Given the description of an element on the screen output the (x, y) to click on. 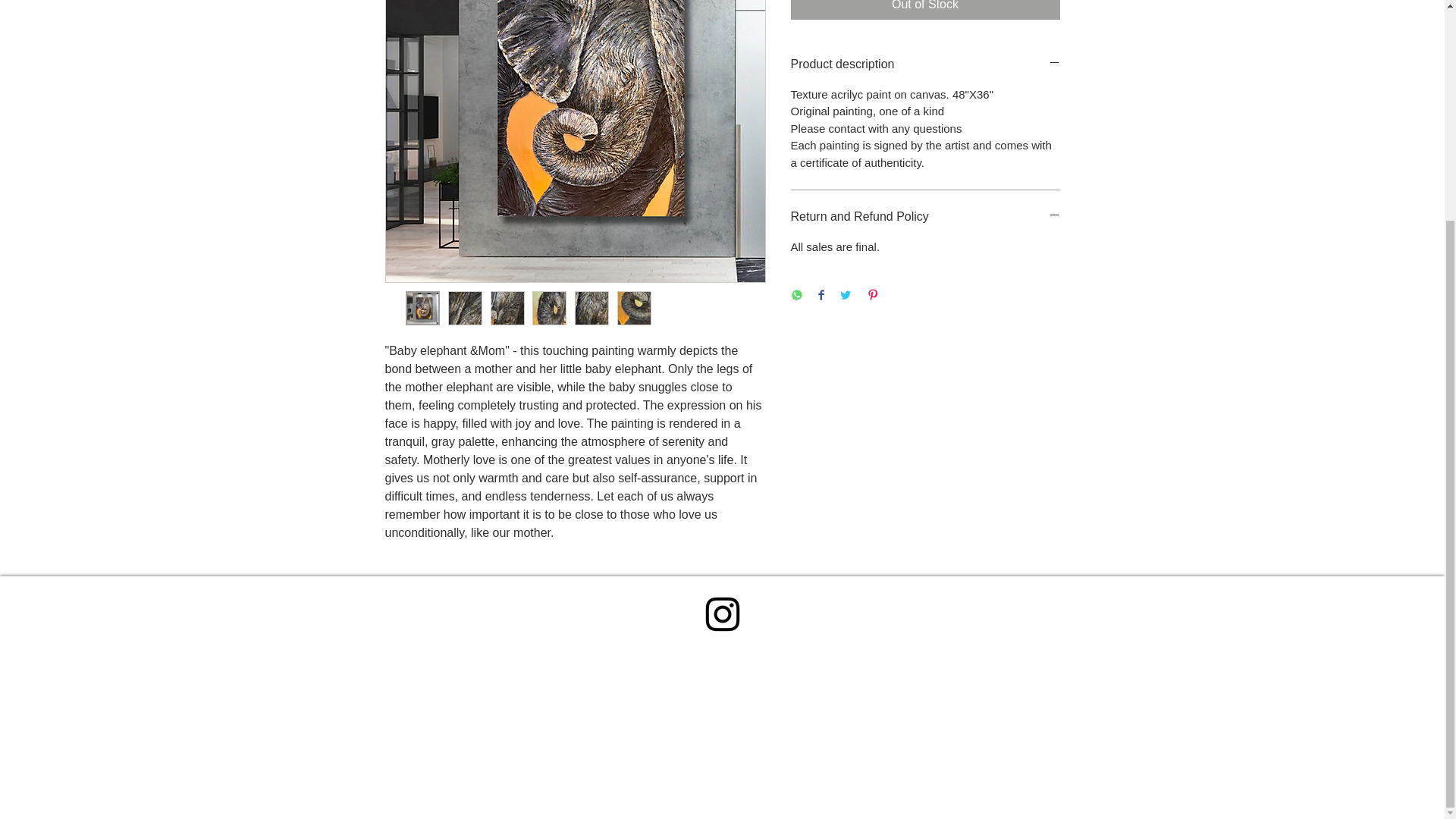
Return and Refund Policy (924, 216)
Out of Stock (924, 9)
Product description (924, 64)
